Given the description of an element on the screen output the (x, y) to click on. 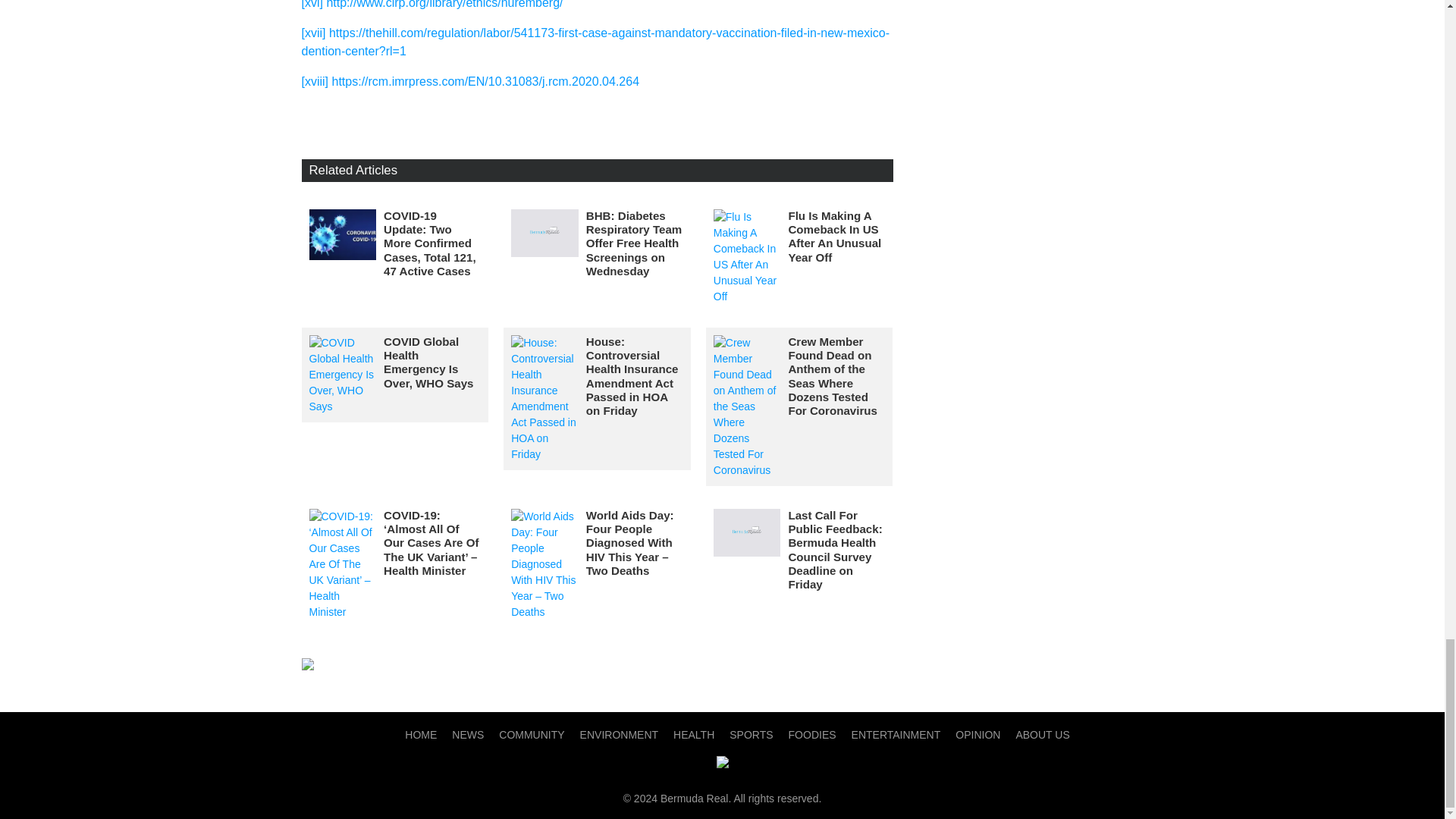
COVID Global Health Emergency Is Over, WHO Says (428, 361)
Flu Is Making A Comeback In US After An Unusual Year Off (833, 235)
